Given the description of an element on the screen output the (x, y) to click on. 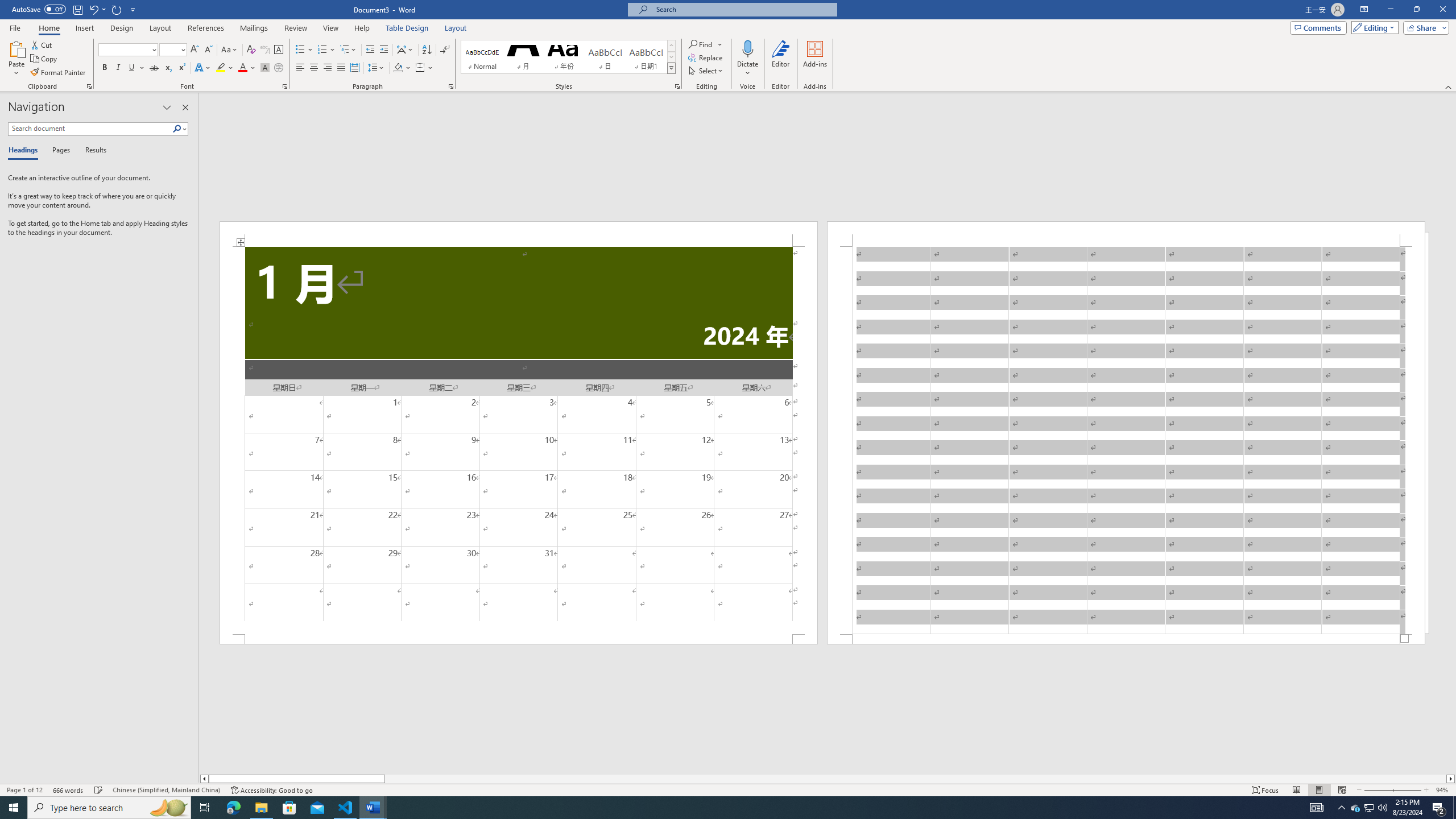
Repeat Grow Font (117, 9)
Character Border (278, 49)
Decrease Indent (370, 49)
AutomationID: QuickStylesGallery (568, 56)
Styles... (676, 85)
Text Highlight Color (224, 67)
Mailings (253, 28)
File Tab (15, 27)
AutoSave (38, 9)
Header -Section 1- (1126, 233)
